Given the description of an element on the screen output the (x, y) to click on. 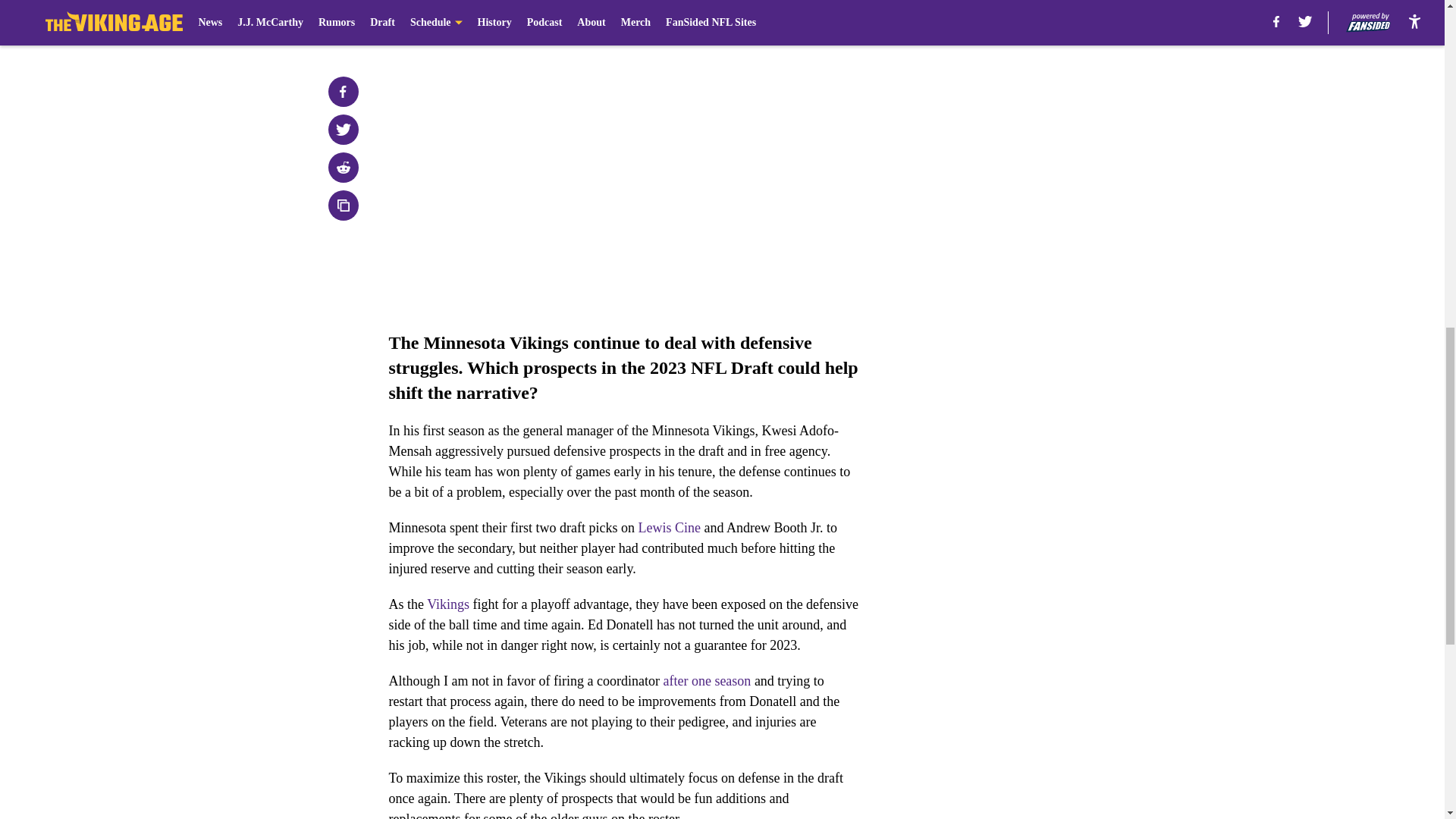
Vikings (447, 604)
Lewis Cine (668, 527)
Prev (433, 20)
Next (813, 20)
after one season (706, 680)
